Given the description of an element on the screen output the (x, y) to click on. 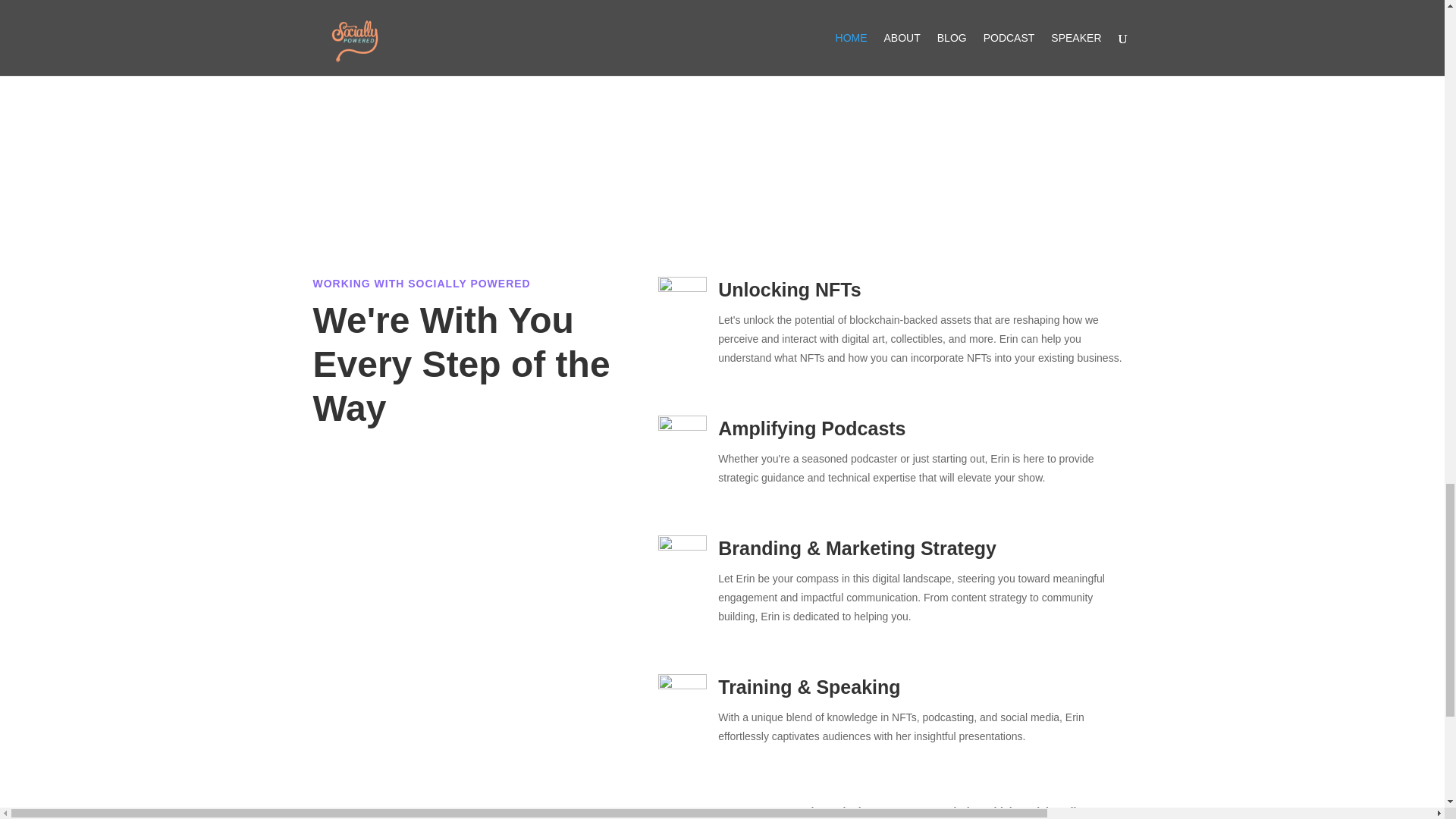
Divi. The Ultimate WordPress Theme And Visual Page Builder (722, 76)
